Given the description of an element on the screen output the (x, y) to click on. 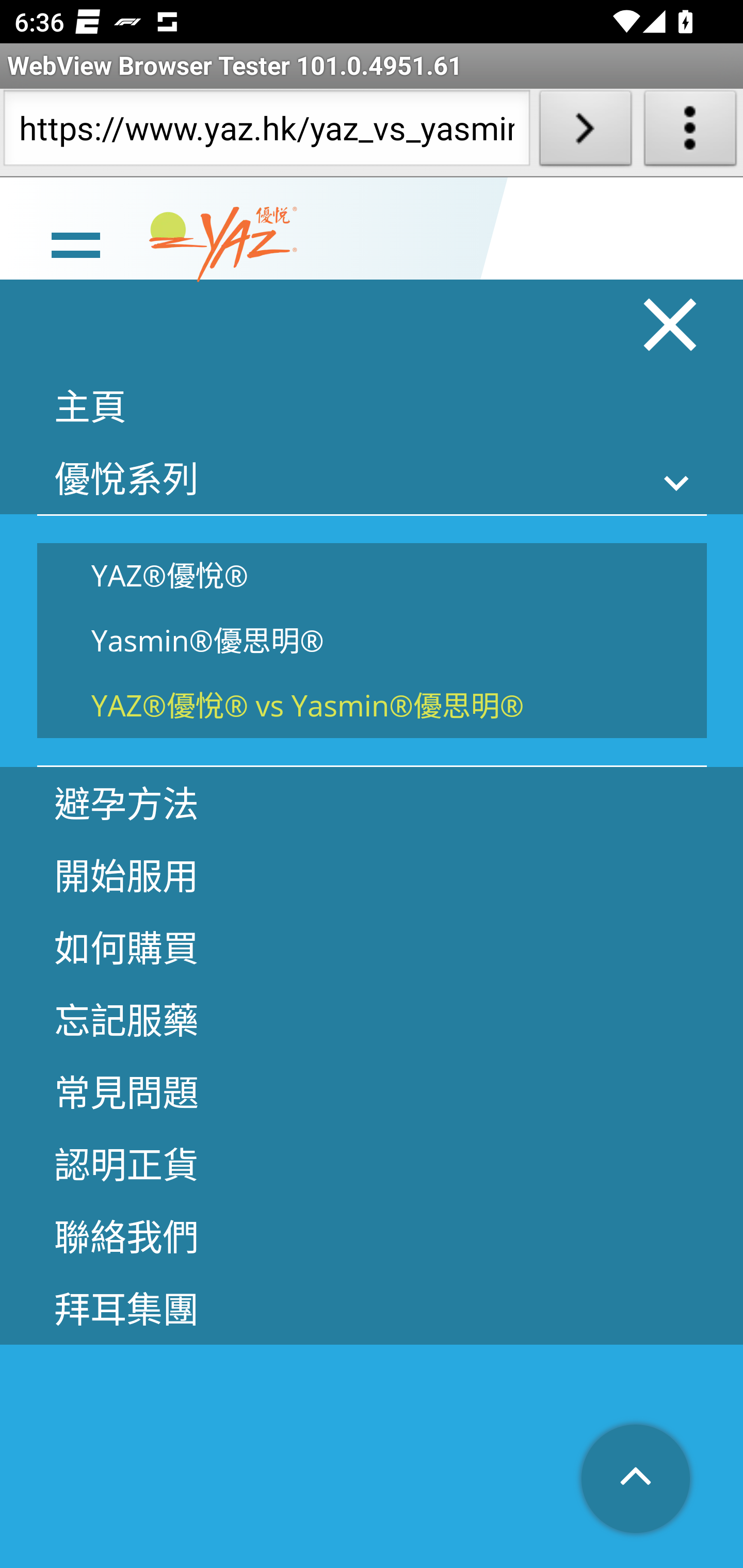
Load URL (585, 132)
About WebView (690, 132)
www.yaz (222, 244)
line Toggle burger menu (75, 243)
 Close burger menu (670, 324)
主頁 (371, 405)
優悅系列 (371, 477)
Toggle sub menu (677, 482)
YAZ®優悅® (372, 574)
Yasmin®優思明® (372, 640)
YAZ®優悅® vs Yasmin®優思明® (372, 705)
避孕方法 (371, 803)
開始服用 (371, 875)
如何購買 (371, 947)
忘記服藥 (371, 1019)
常見問題 (371, 1091)
認明正貨 (371, 1163)
聯絡我們 (371, 1235)
拜耳集團 (371, 1308)
 (636, 1480)
